Given the description of an element on the screen output the (x, y) to click on. 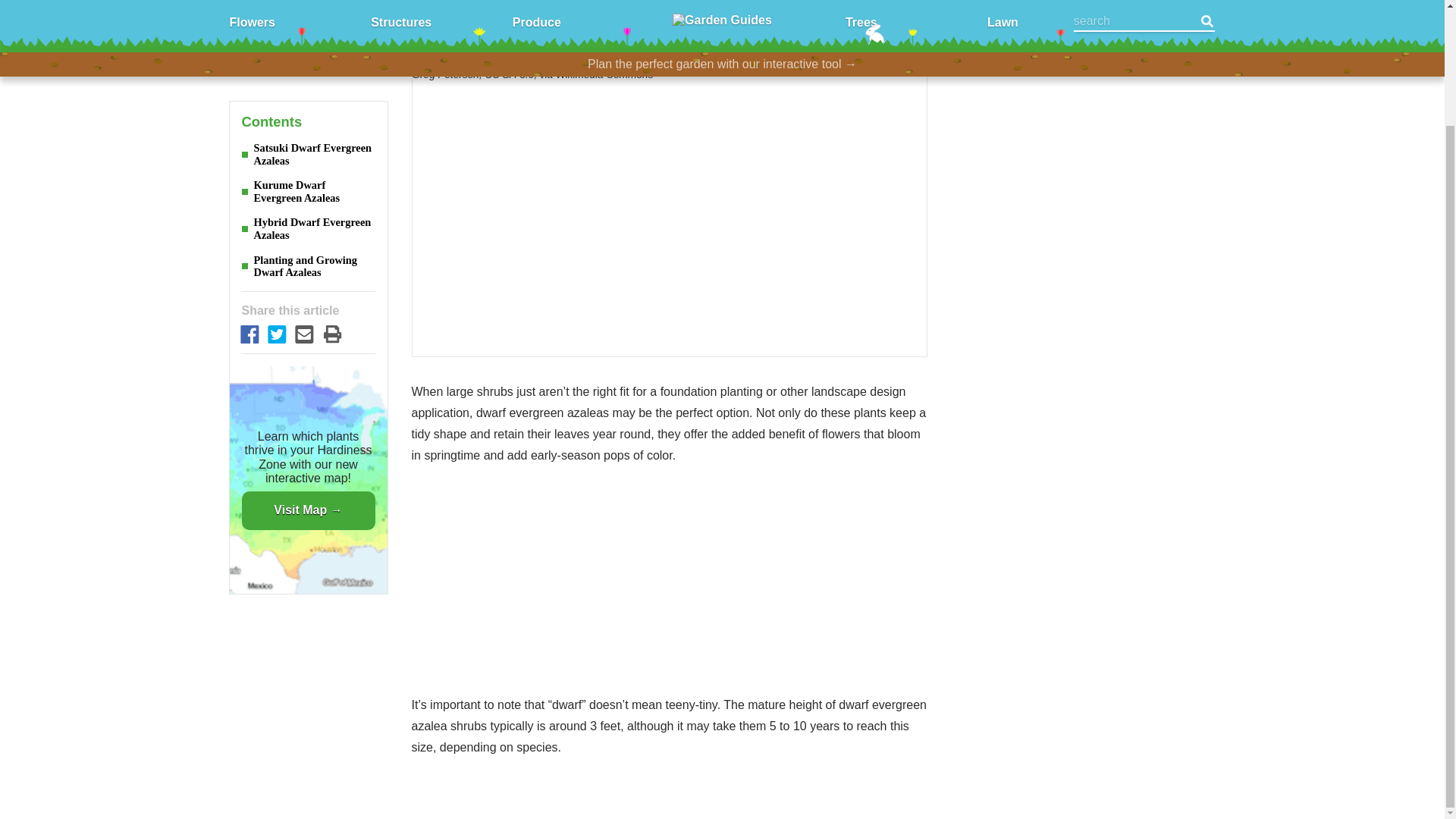
Kurume Dwarf Evergreen Azaleas (307, 82)
Satsuki Dwarf Evergreen Azaleas (307, 45)
Planting and Growing Dwarf Azaleas (307, 157)
Hybrid Dwarf Evergreen Azaleas (307, 119)
